Given the description of an element on the screen output the (x, y) to click on. 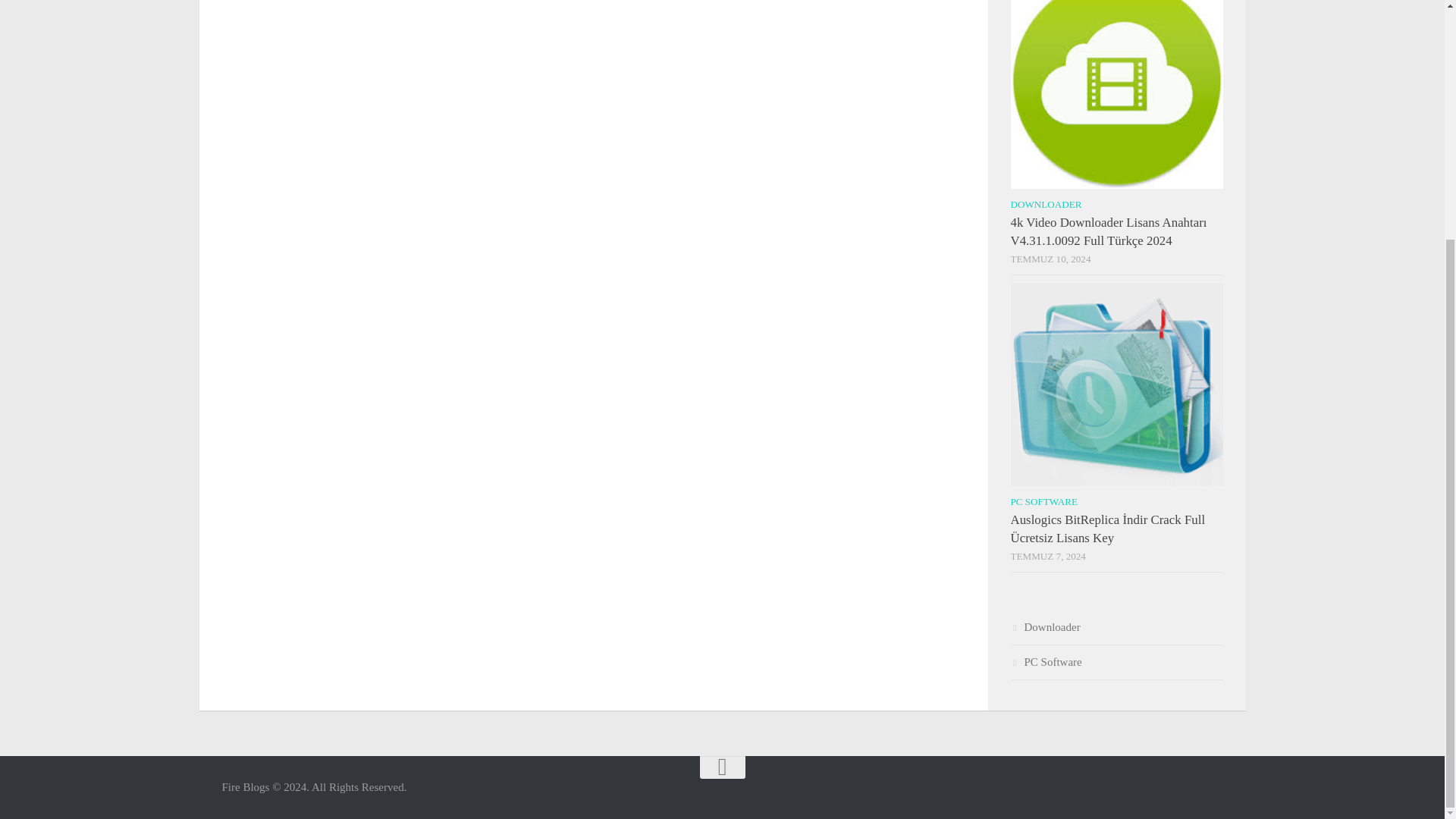
PC Software (1045, 662)
PC SOFTWARE (1043, 501)
DOWNLOADER (1045, 204)
Downloader (1045, 626)
